Given the description of an element on the screen output the (x, y) to click on. 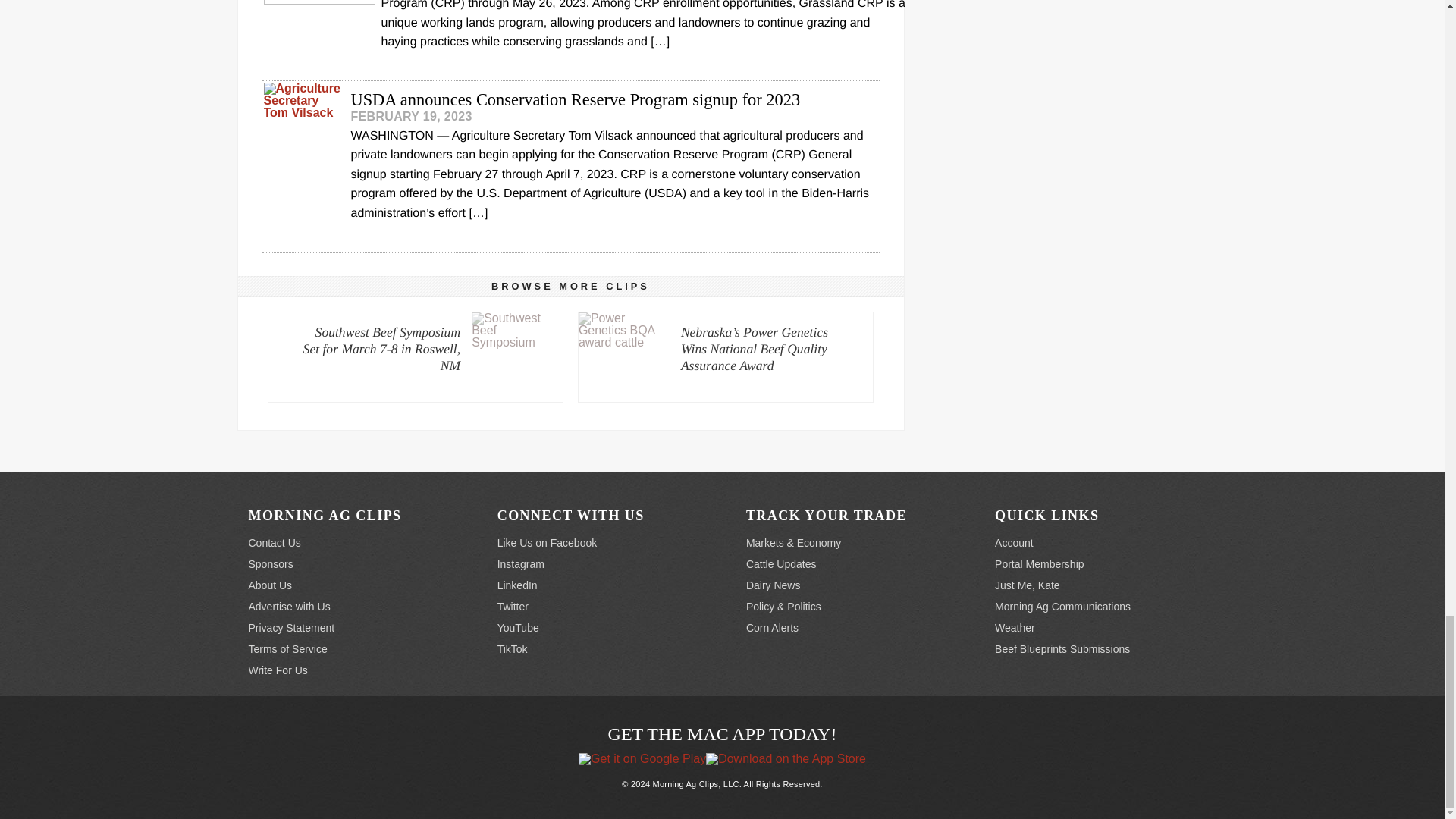
USDA announces Conservation Reserve Program signup for 2023 (570, 112)
